Given the description of an element on the screen output the (x, y) to click on. 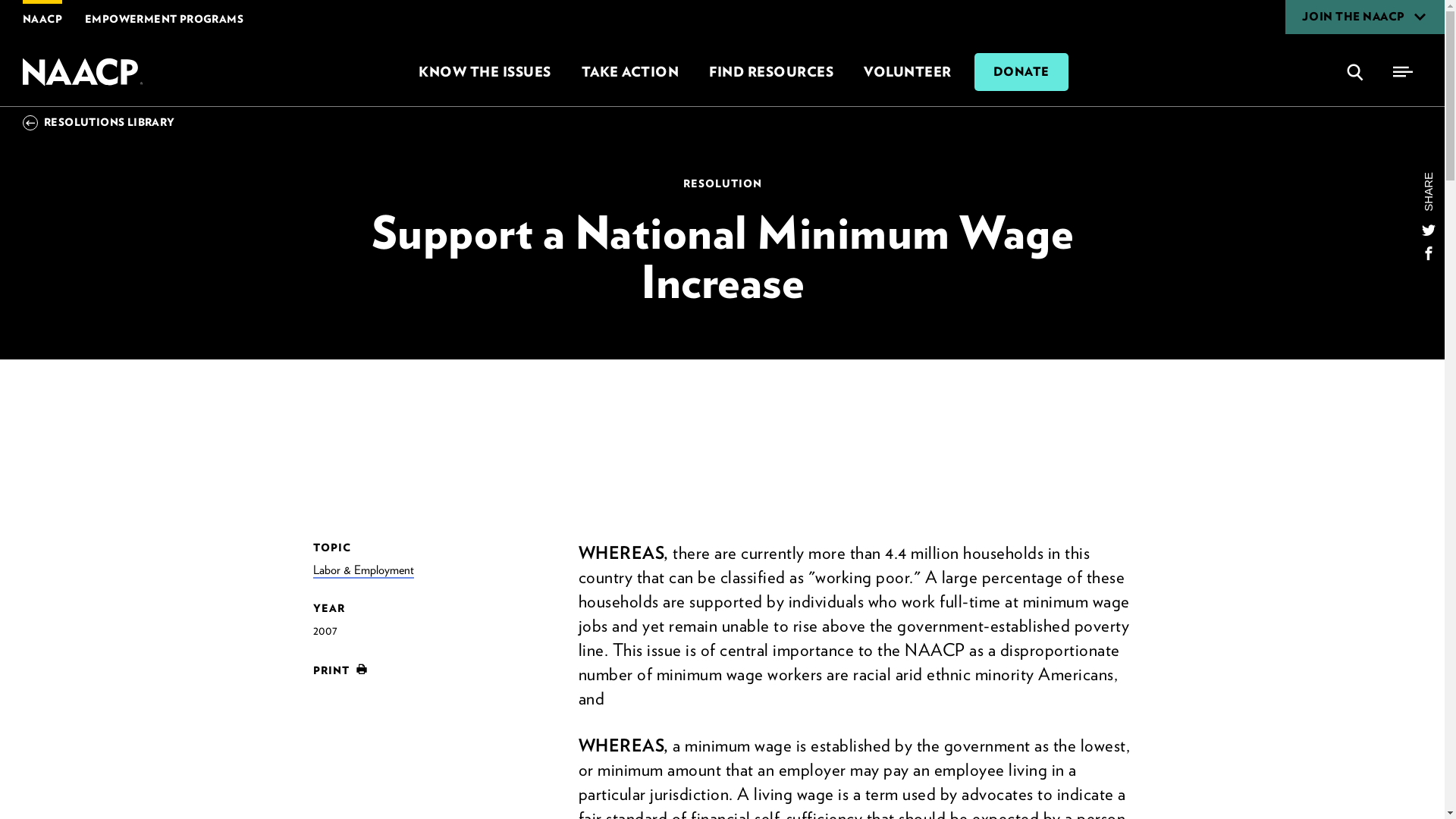
NAACP (84, 71)
Action Center (630, 71)
All Issues (484, 71)
